Given the description of an element on the screen output the (x, y) to click on. 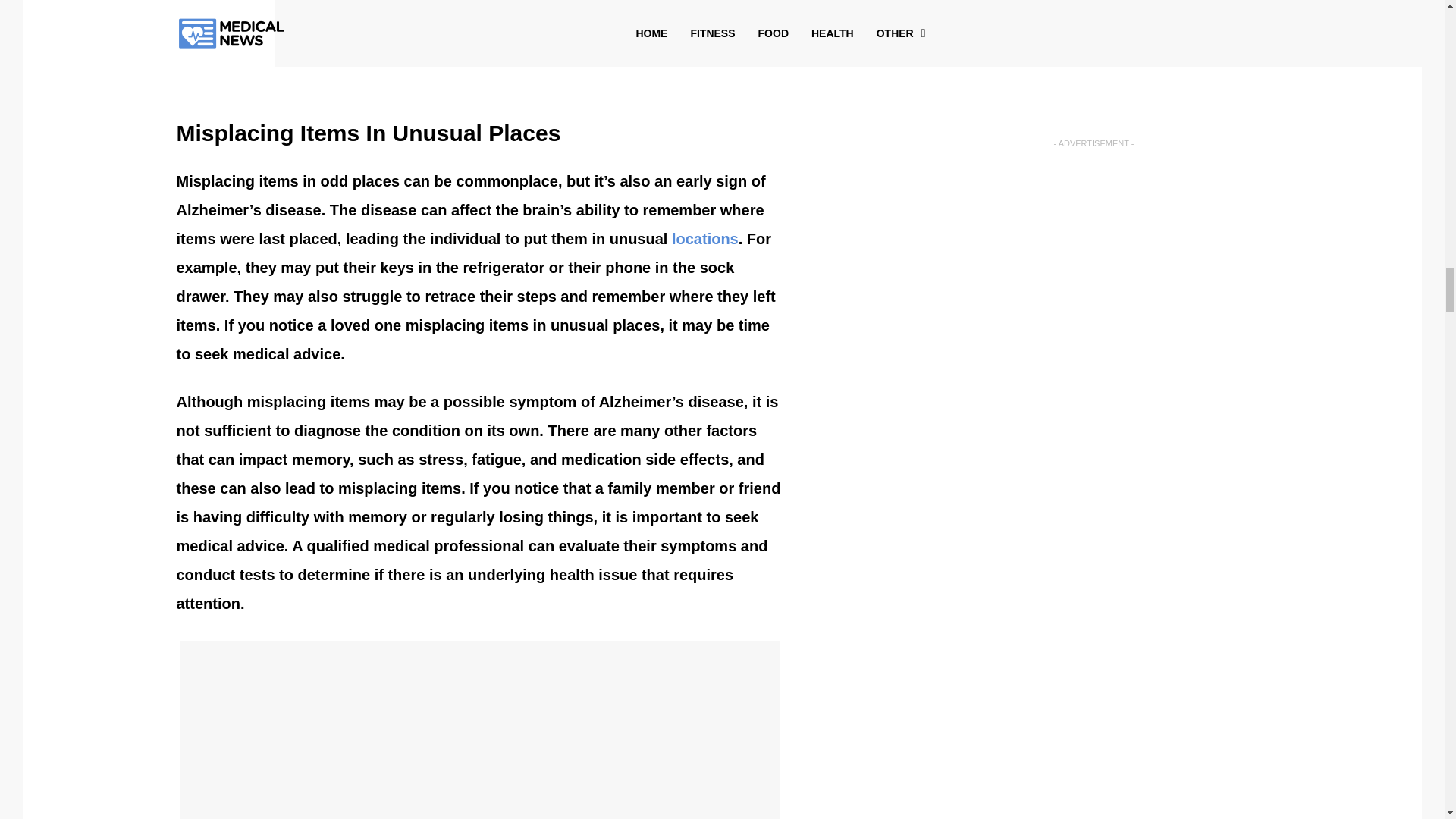
locations (704, 238)
